Given the description of an element on the screen output the (x, y) to click on. 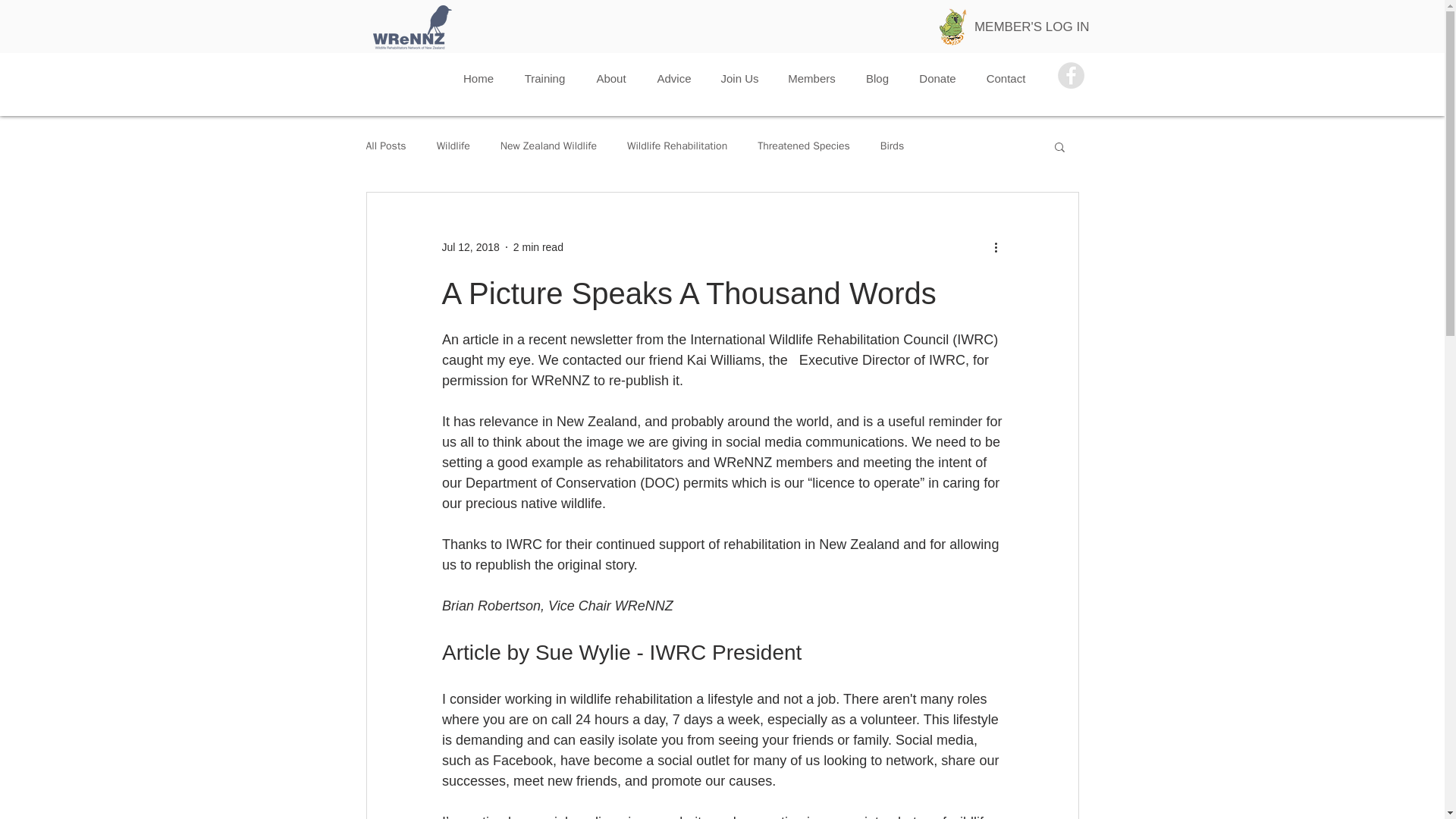
Jul 12, 2018 (470, 246)
MEMBER'S LOG IN (1031, 26)
Birds (892, 146)
Contact (1006, 77)
Donate (937, 77)
Home (477, 77)
Wildlife Rehabilitation (676, 146)
2 min read (538, 246)
Blog (877, 77)
Wildlife (453, 146)
New Zealand Wildlife (548, 146)
Threatened Species (803, 146)
Join Us (739, 77)
About (611, 77)
All Posts (385, 146)
